Given the description of an element on the screen output the (x, y) to click on. 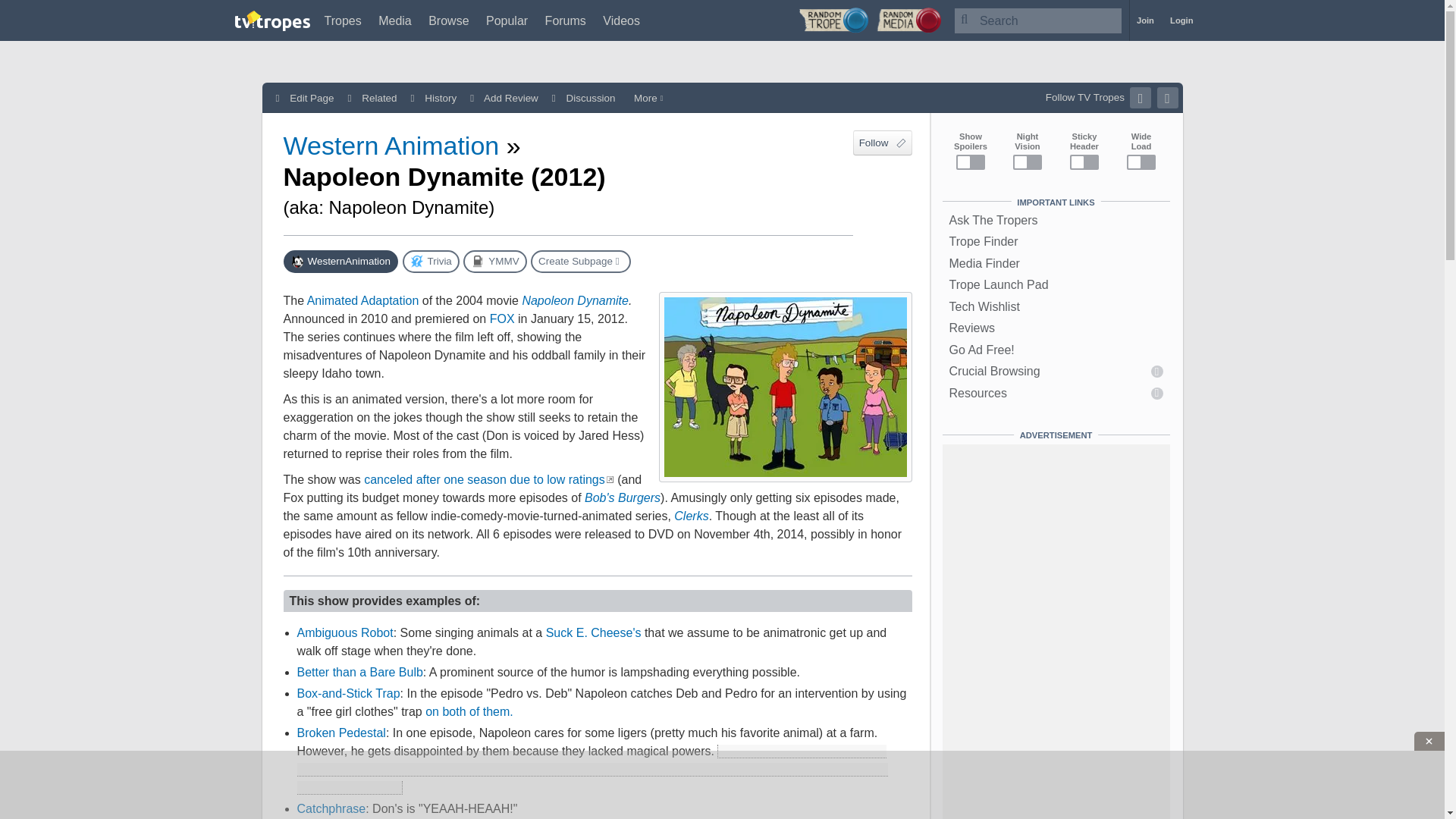
The Western Animation page (340, 260)
you can set spoilers visible by default on your profile (592, 769)
Forums (565, 20)
Popular (506, 20)
Browse (448, 20)
Media (395, 20)
Login (1181, 20)
The YMMV page (494, 260)
Videos (621, 20)
3rd party ad content (722, 785)
The Trivia page (429, 260)
Tropes (342, 20)
